Given the description of an element on the screen output the (x, y) to click on. 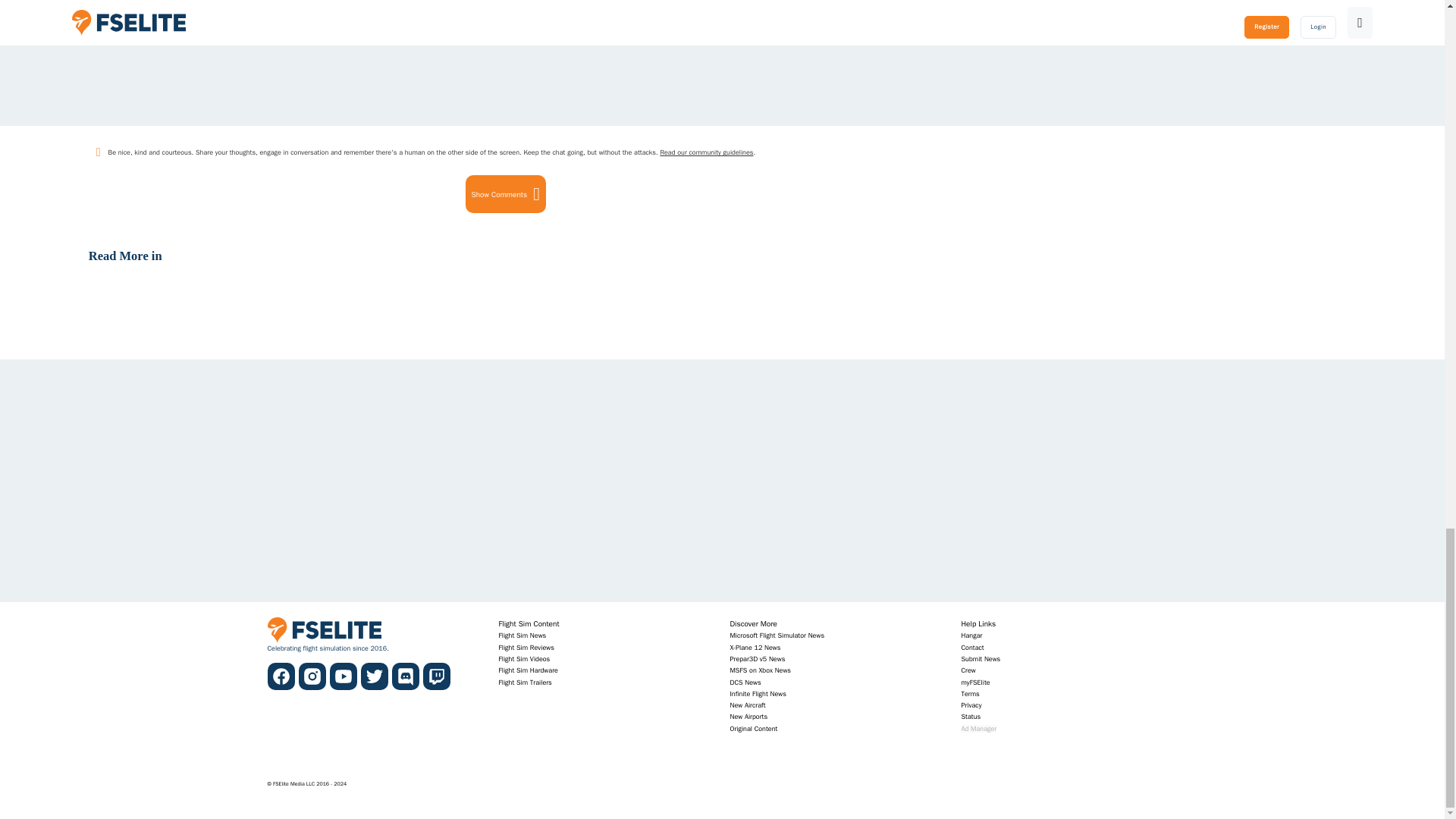
Flight Simulator News (523, 635)
Discover more in Aircraft (747, 705)
Flight Sim hardware (528, 670)
Discover more in Infinite Flight (757, 694)
Microsoft Flight Simulator on Xbox News (759, 670)
Microsoft Flight Simulator news (776, 635)
Discover more in Airports (748, 716)
Watch Flight Simulator Videos (524, 659)
Flight Simulator Product Reviews (526, 647)
Discover more in Digital Combat Simulator (744, 682)
